Given the description of an element on the screen output the (x, y) to click on. 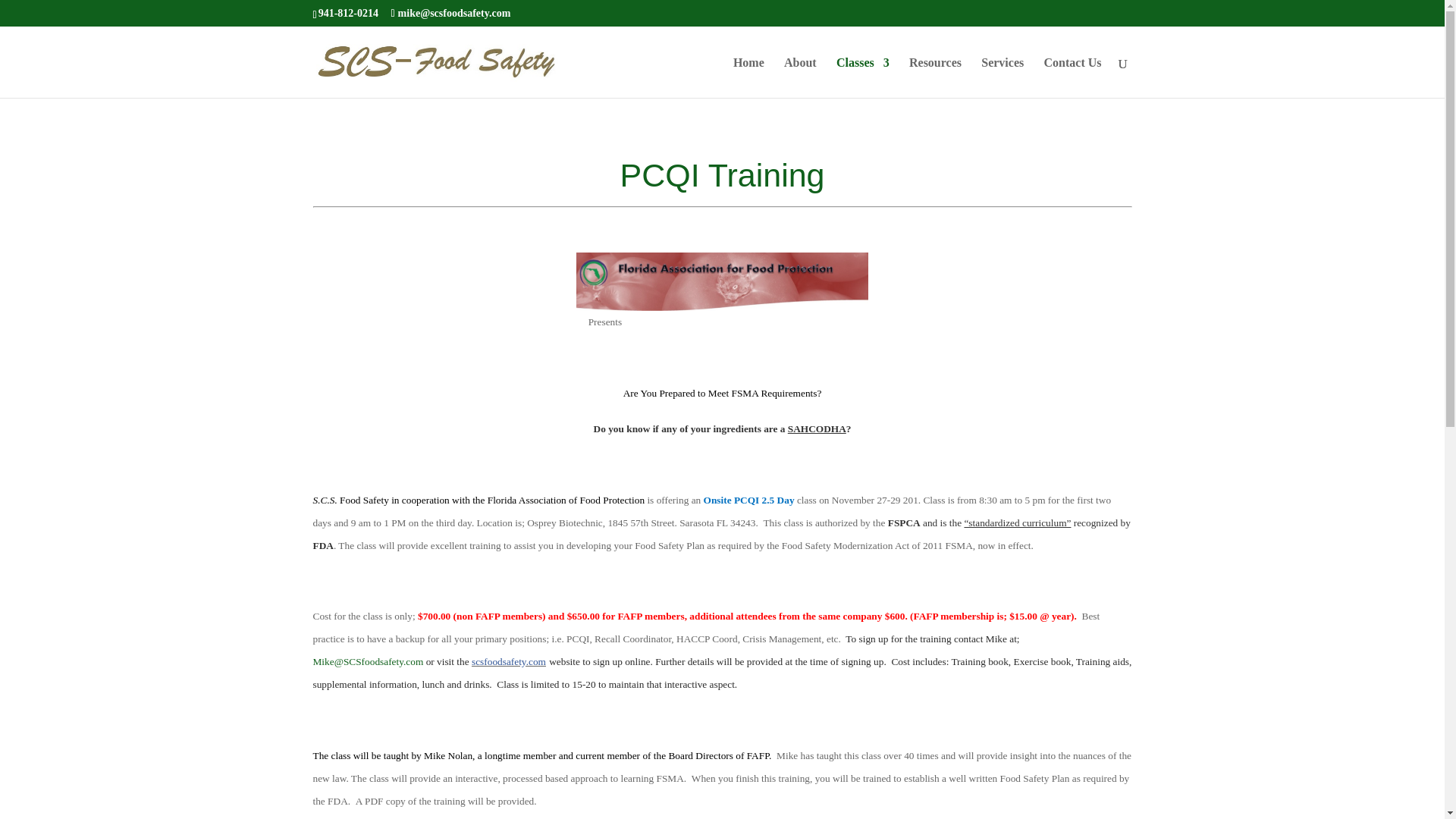
Resources (934, 77)
Services (1002, 77)
Classes (862, 77)
Contact Us (1071, 77)
